Given the description of an element on the screen output the (x, y) to click on. 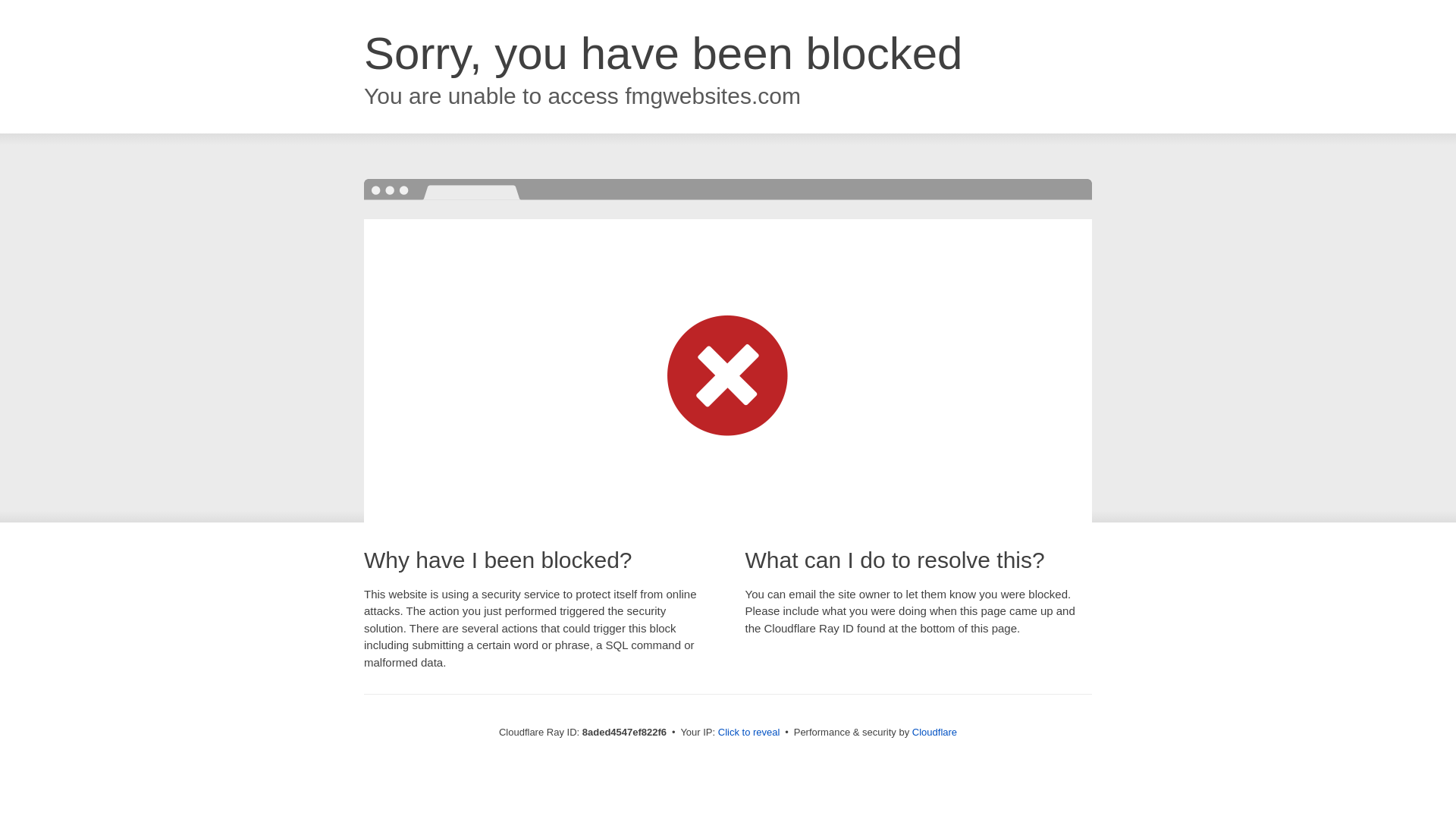
Cloudflare (934, 731)
Click to reveal (748, 732)
